Given the description of an element on the screen output the (x, y) to click on. 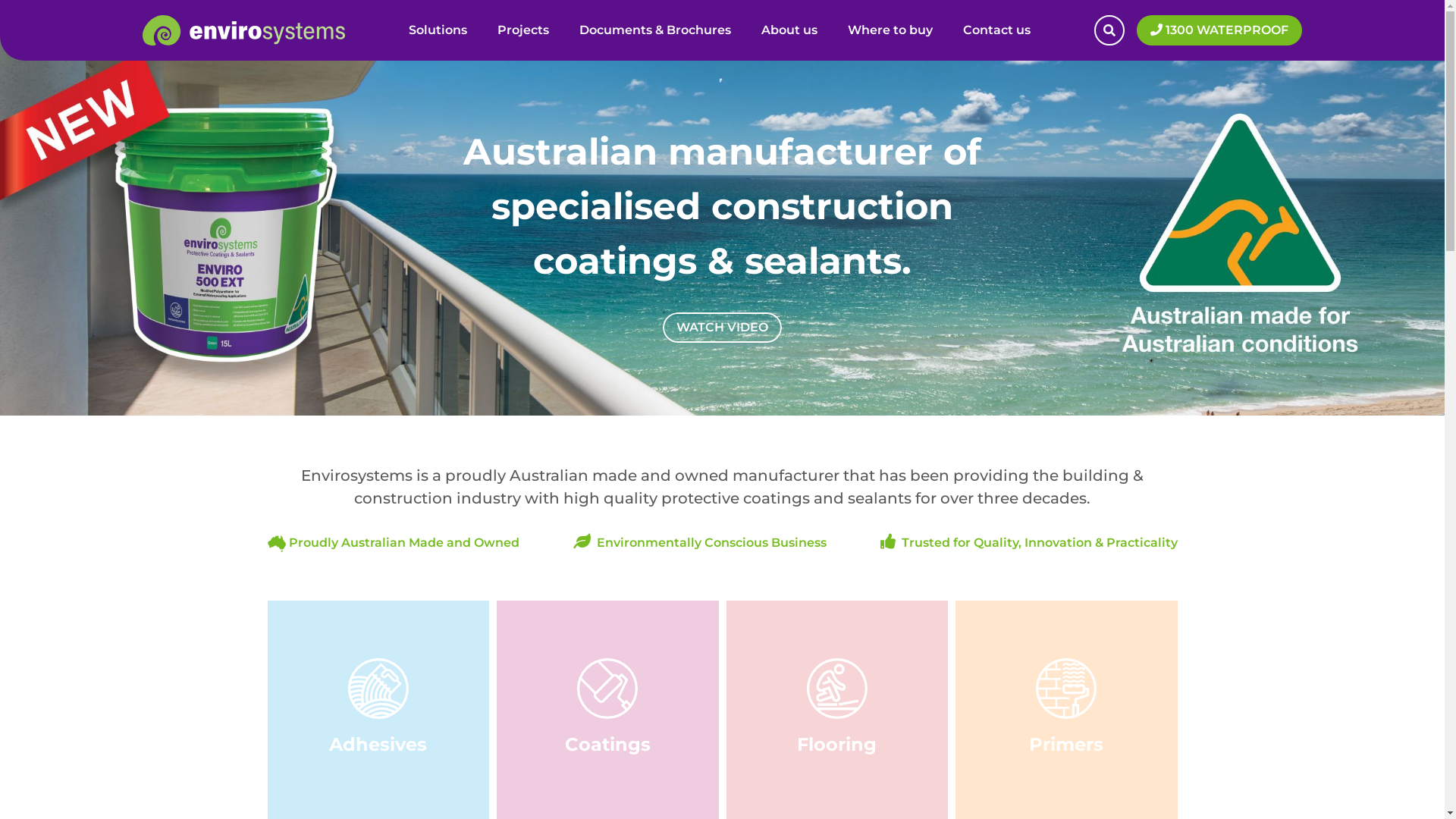
About us Element type: text (789, 30)
Where to buy Element type: text (889, 30)
Solutions Element type: text (437, 30)
WATCH VIDEO Element type: text (721, 327)
Documents & Brochures Element type: text (655, 30)
1300 WATERPROOF Element type: text (1219, 30)
Contact us Element type: text (996, 30)
Projects Element type: text (523, 30)
